Given the description of an element on the screen output the (x, y) to click on. 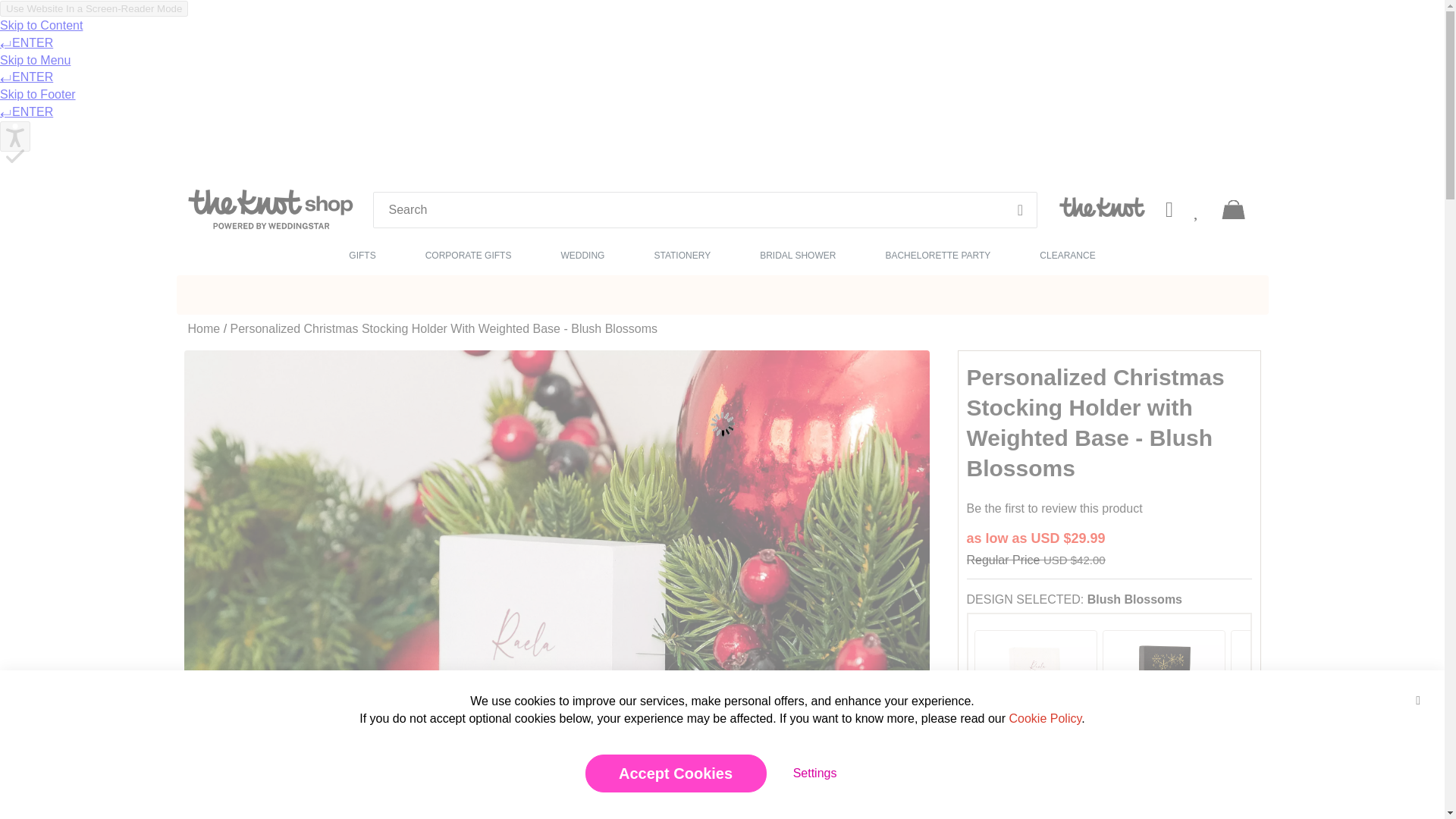
STATIONERY (681, 252)
CLEARANCE (1067, 252)
Go to Home Page (204, 328)
WEDDING (582, 252)
My Cart (1232, 206)
GIFTS (361, 252)
BACHELORETTE PARTY (937, 252)
The Knot Shop - Powered by Weddingstar (270, 209)
CORPORATE GIFTS (468, 252)
Availability (1108, 813)
